Given the description of an element on the screen output the (x, y) to click on. 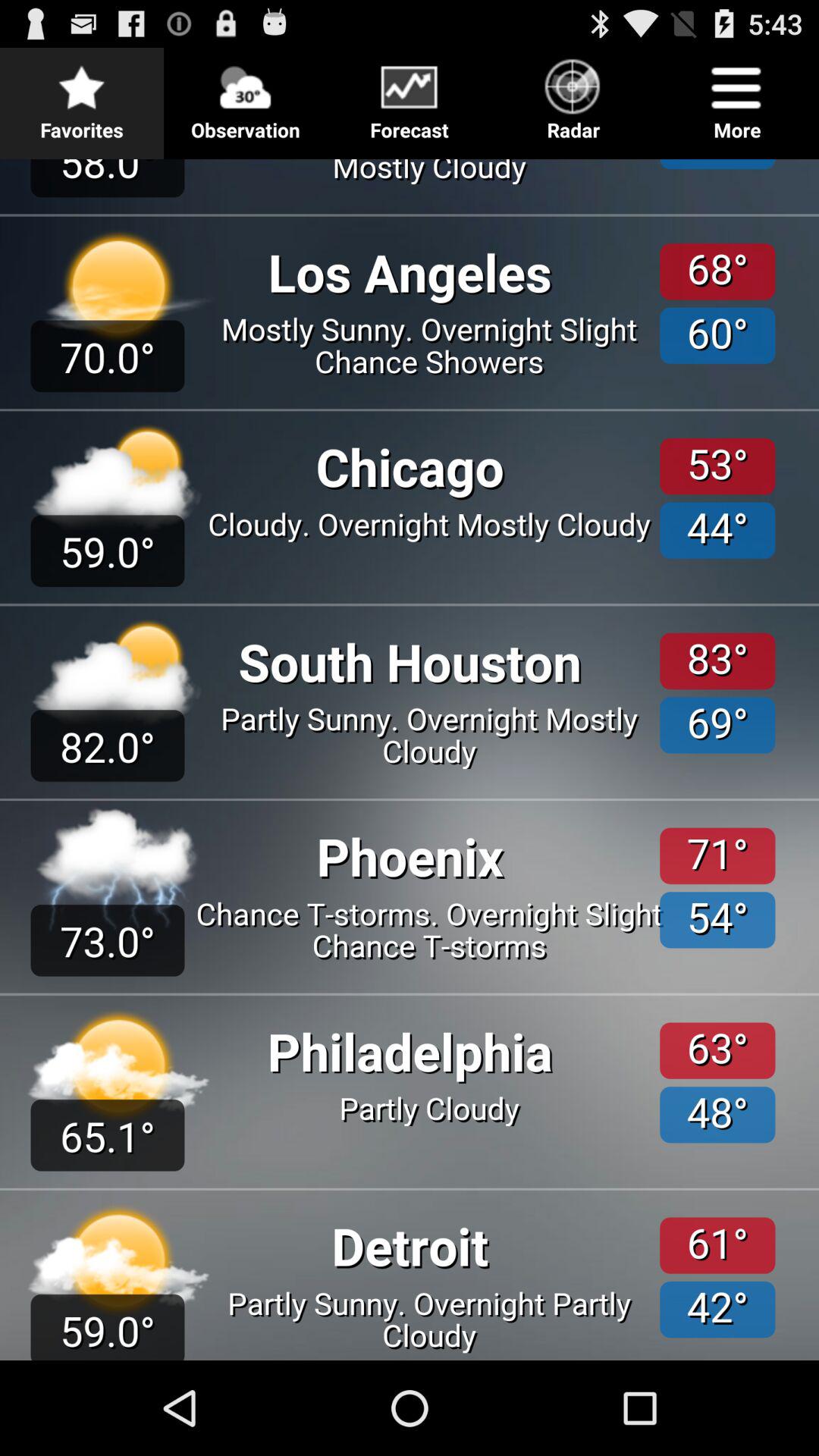
menu bar to select different view options (409, 97)
